Given the description of an element on the screen output the (x, y) to click on. 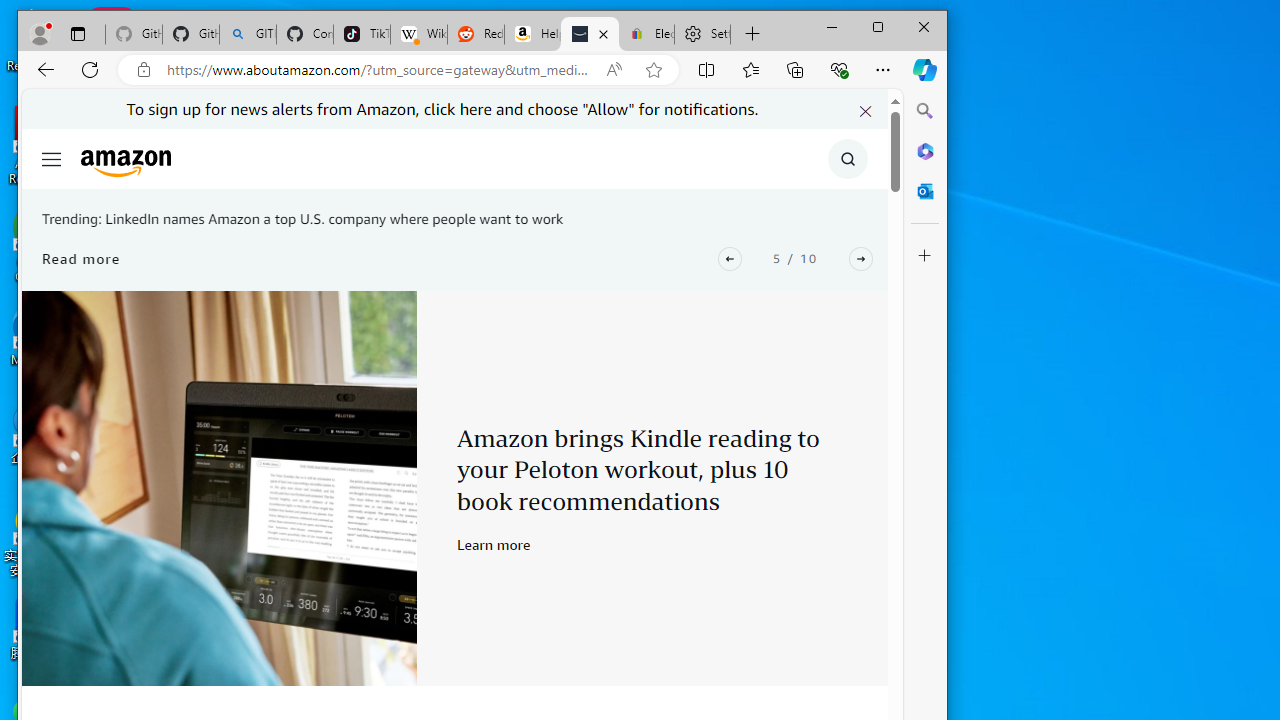
Maximize (878, 26)
Class: flickity-button-icon (861, 258)
